Given the description of an element on the screen output the (x, y) to click on. 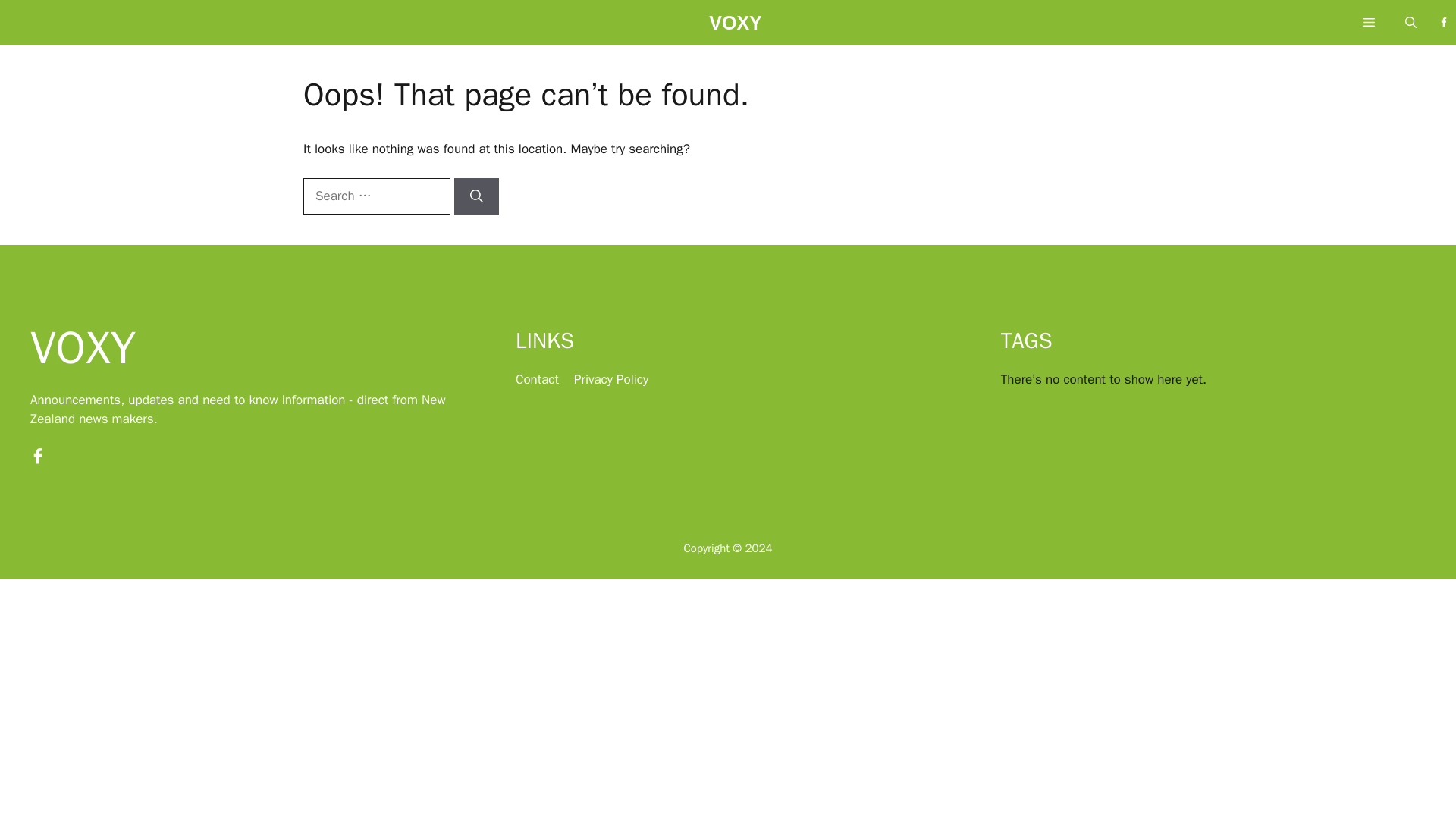
Search for: (375, 196)
Contact (537, 379)
Privacy Policy (610, 379)
VOXY (735, 26)
